Given the description of an element on the screen output the (x, y) to click on. 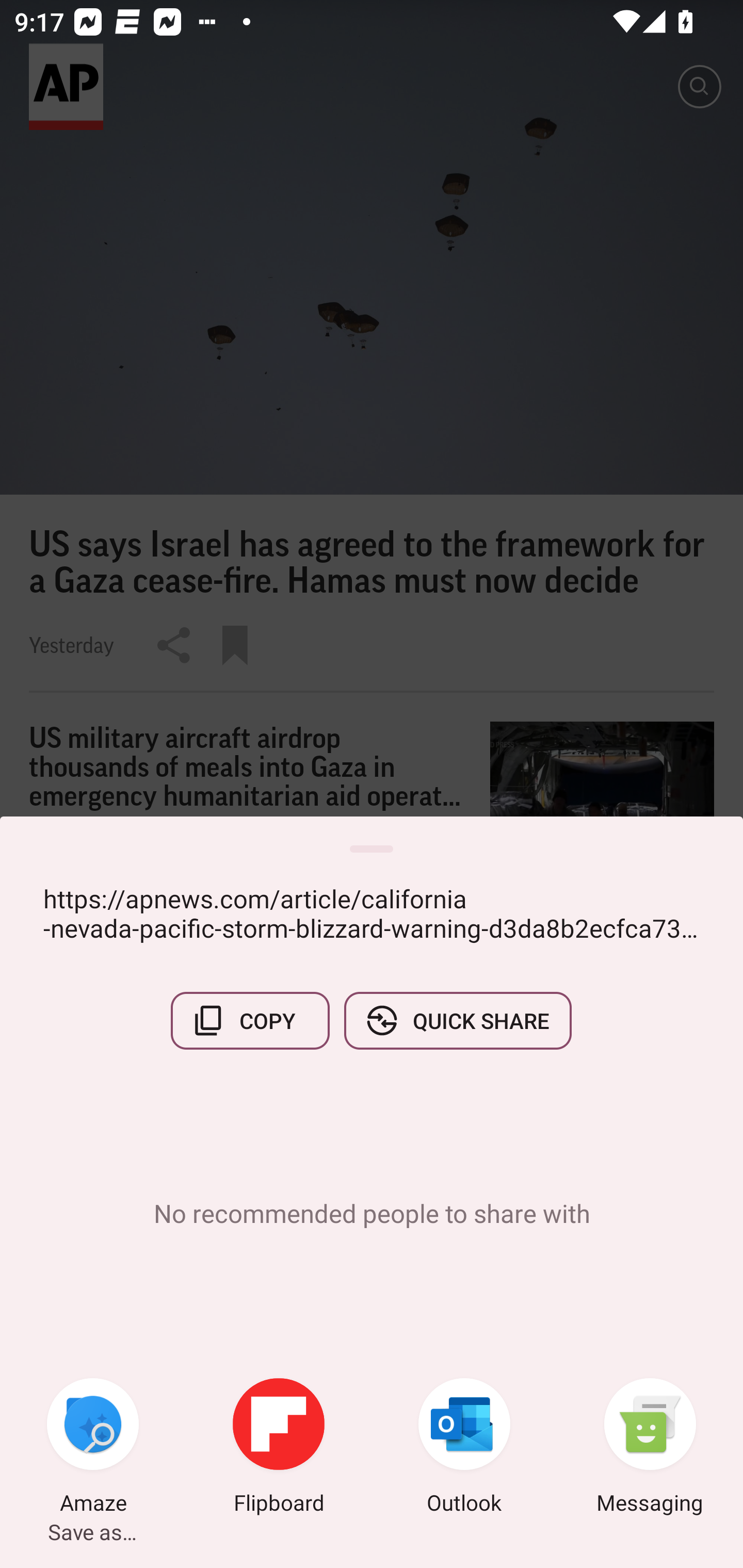
COPY (249, 1020)
QUICK SHARE (457, 1020)
Amaze Save as… (92, 1448)
Flipboard (278, 1448)
Outlook (464, 1448)
Messaging (650, 1448)
